Given the description of an element on the screen output the (x, y) to click on. 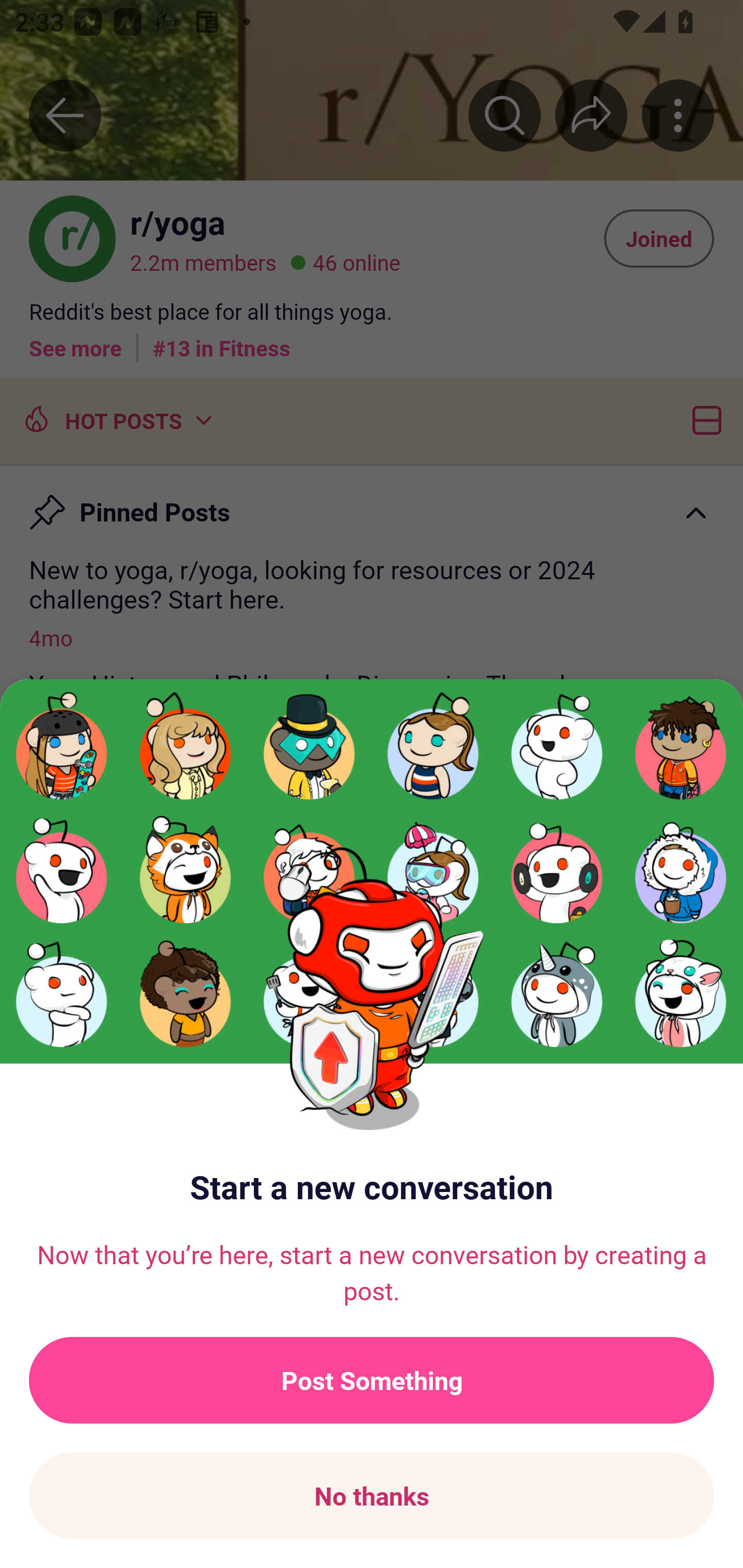
Post Something (371, 1380)
No thanks (371, 1495)
